Given the description of an element on the screen output the (x, y) to click on. 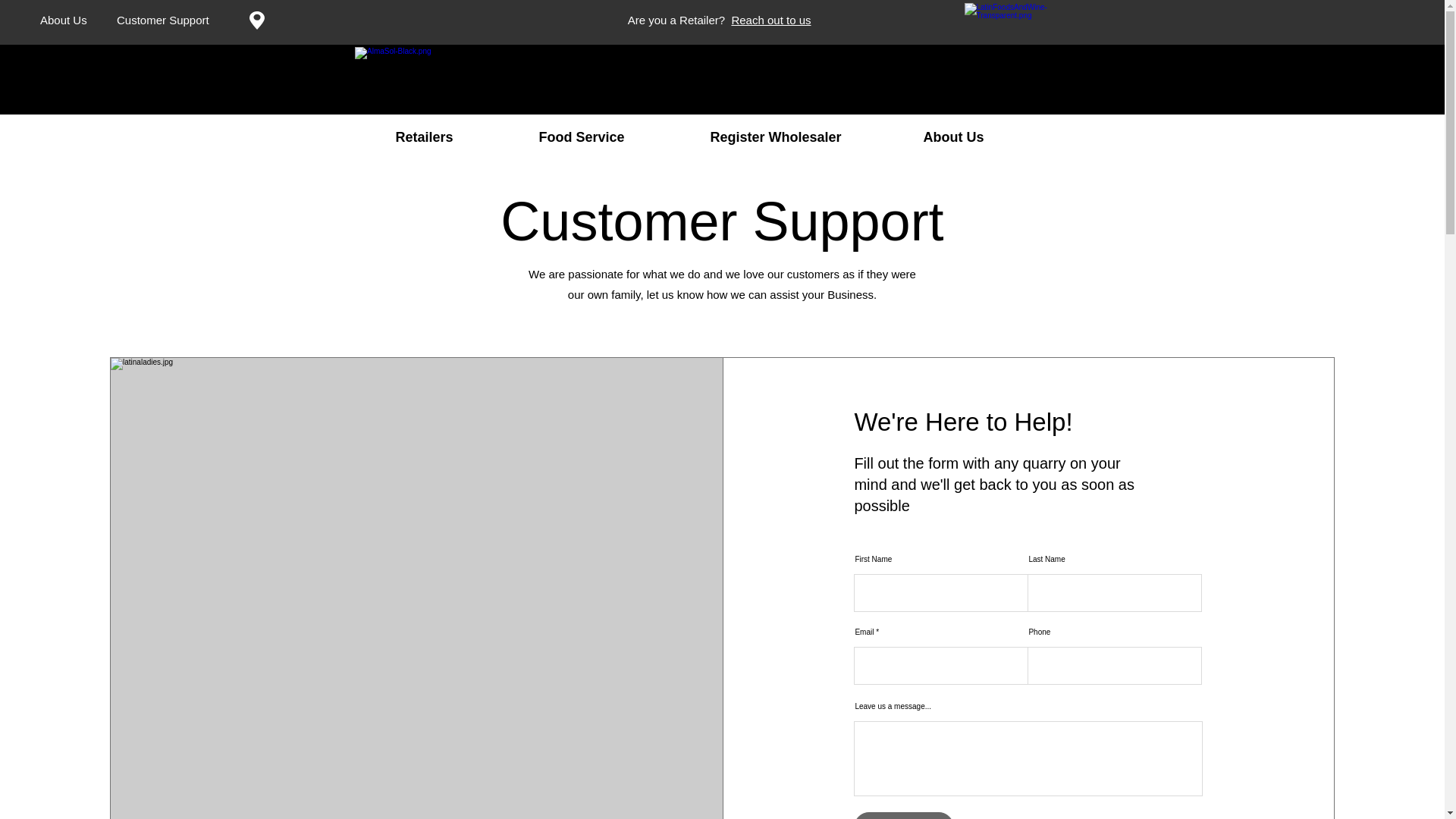
Customer Support (162, 19)
Retailers (455, 136)
Reach out to us (770, 19)
About Us (63, 19)
Submit (903, 815)
Food Service (612, 136)
Register Wholesaler (805, 136)
About Us (985, 136)
